Given the description of an element on the screen output the (x, y) to click on. 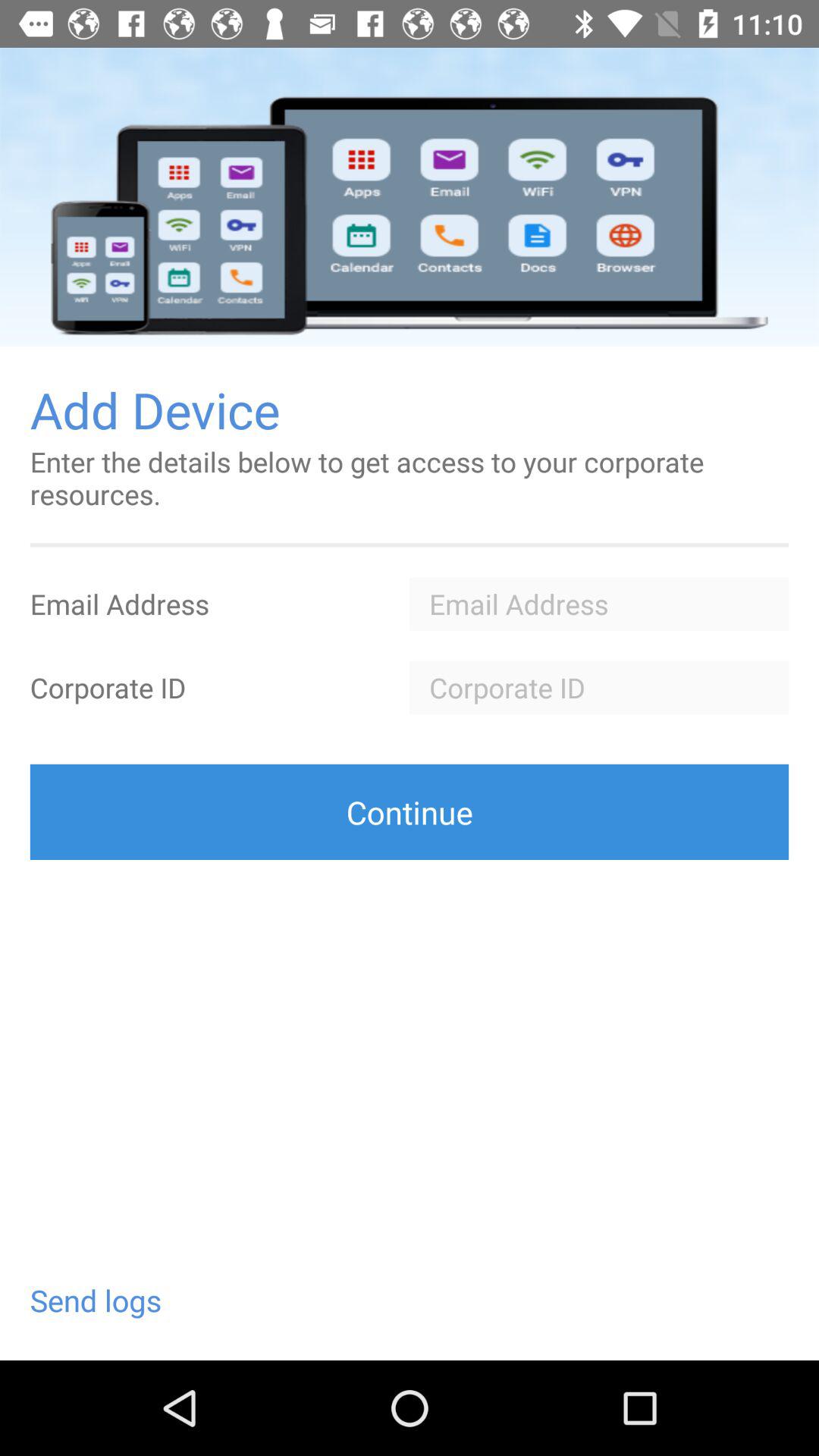
swipe to the send logs (95, 1300)
